Given the description of an element on the screen output the (x, y) to click on. 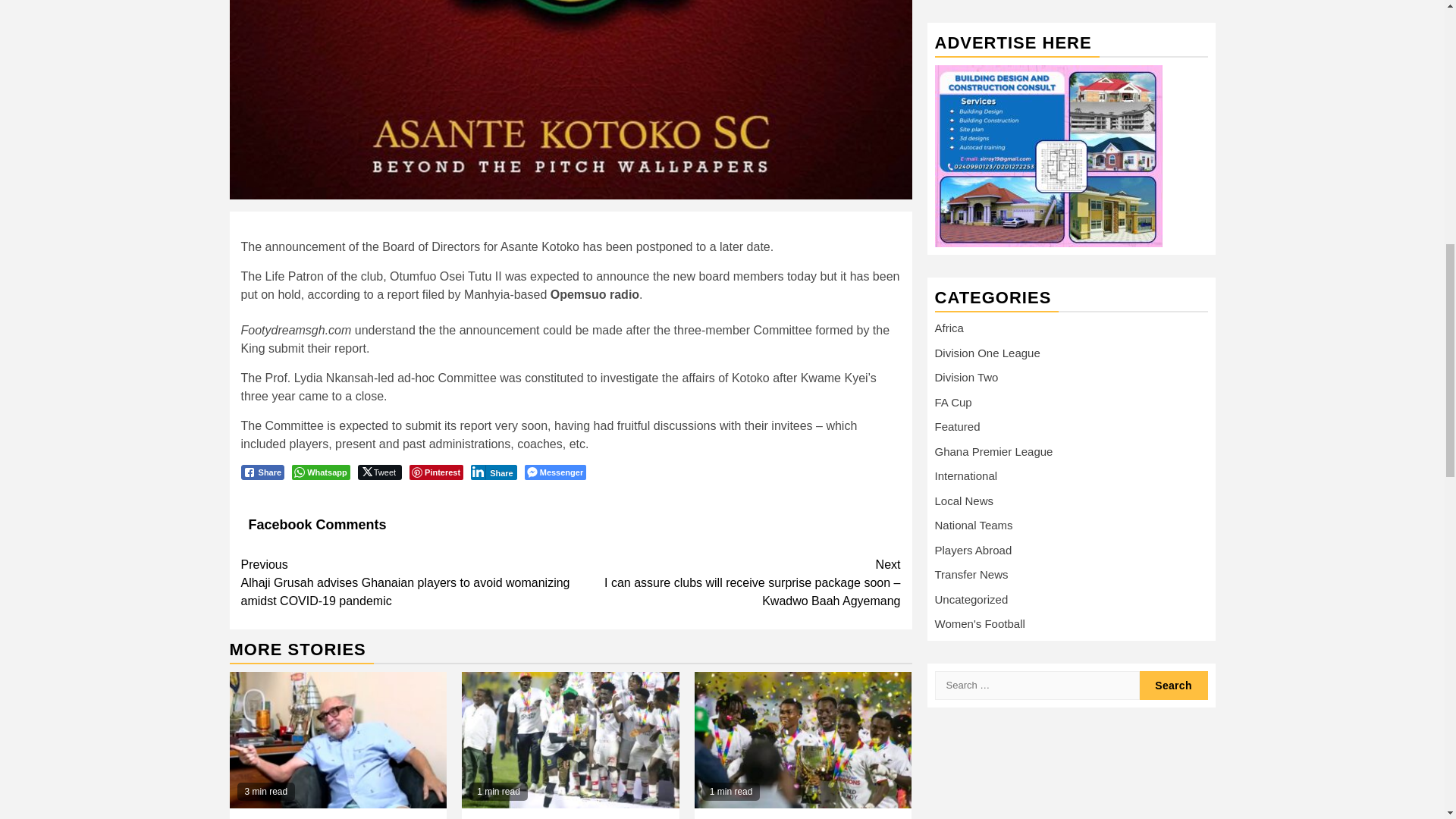
Search (1172, 176)
Tweet (379, 472)
Share (263, 472)
Whatsapp (321, 472)
Messenger (555, 472)
Share (493, 472)
Pinterest (436, 472)
Search (1172, 176)
